Given the description of an element on the screen output the (x, y) to click on. 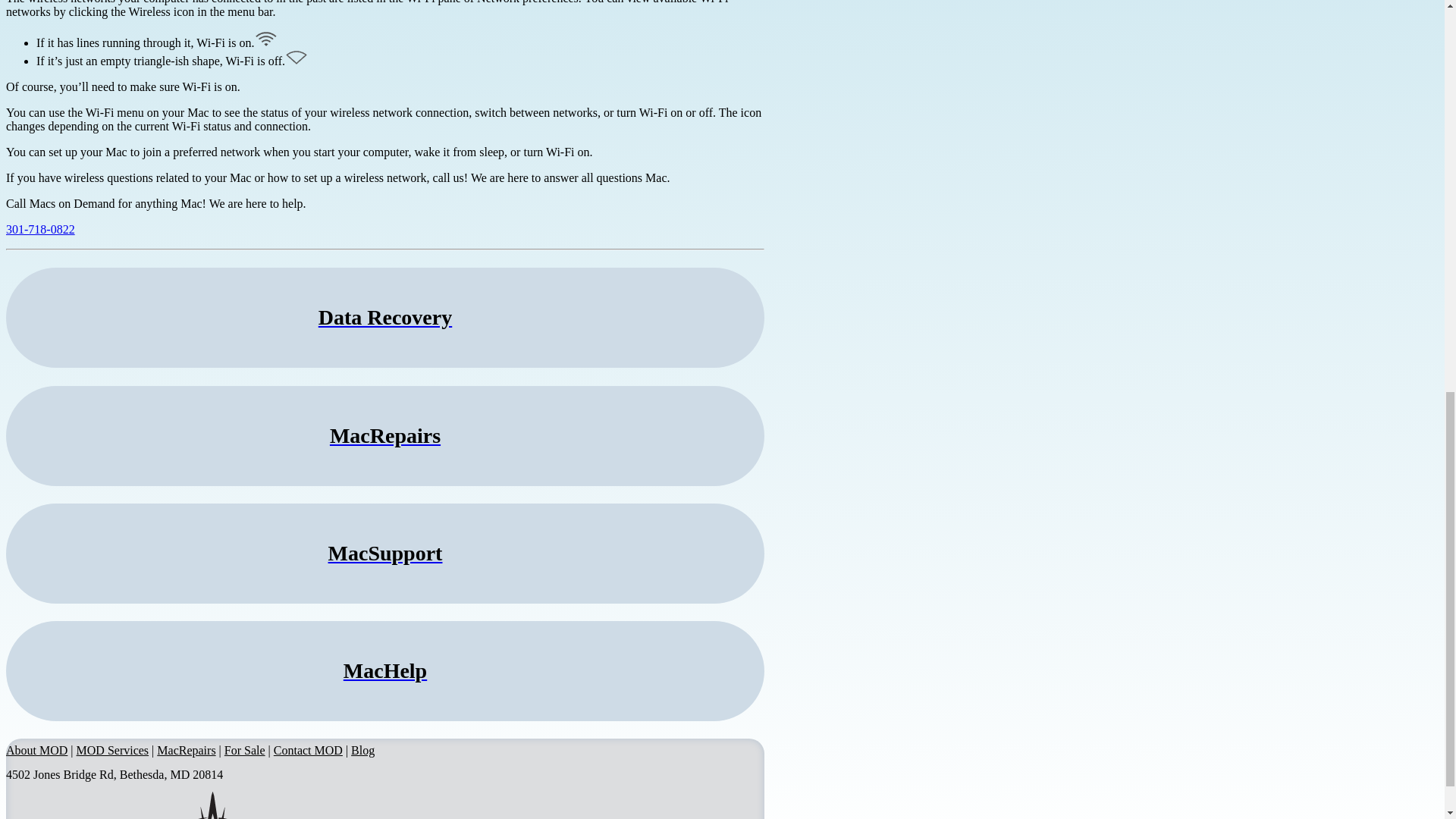
MacSupport (384, 553)
Contact MOD (307, 749)
MacRepairs (186, 749)
For Sale (244, 749)
301-718-0822 (40, 228)
MacHelp (384, 670)
About MOD (35, 749)
MacRepairs (384, 435)
Data Recovery (384, 317)
Blog (362, 749)
MOD Services (113, 749)
